Given the description of an element on the screen output the (x, y) to click on. 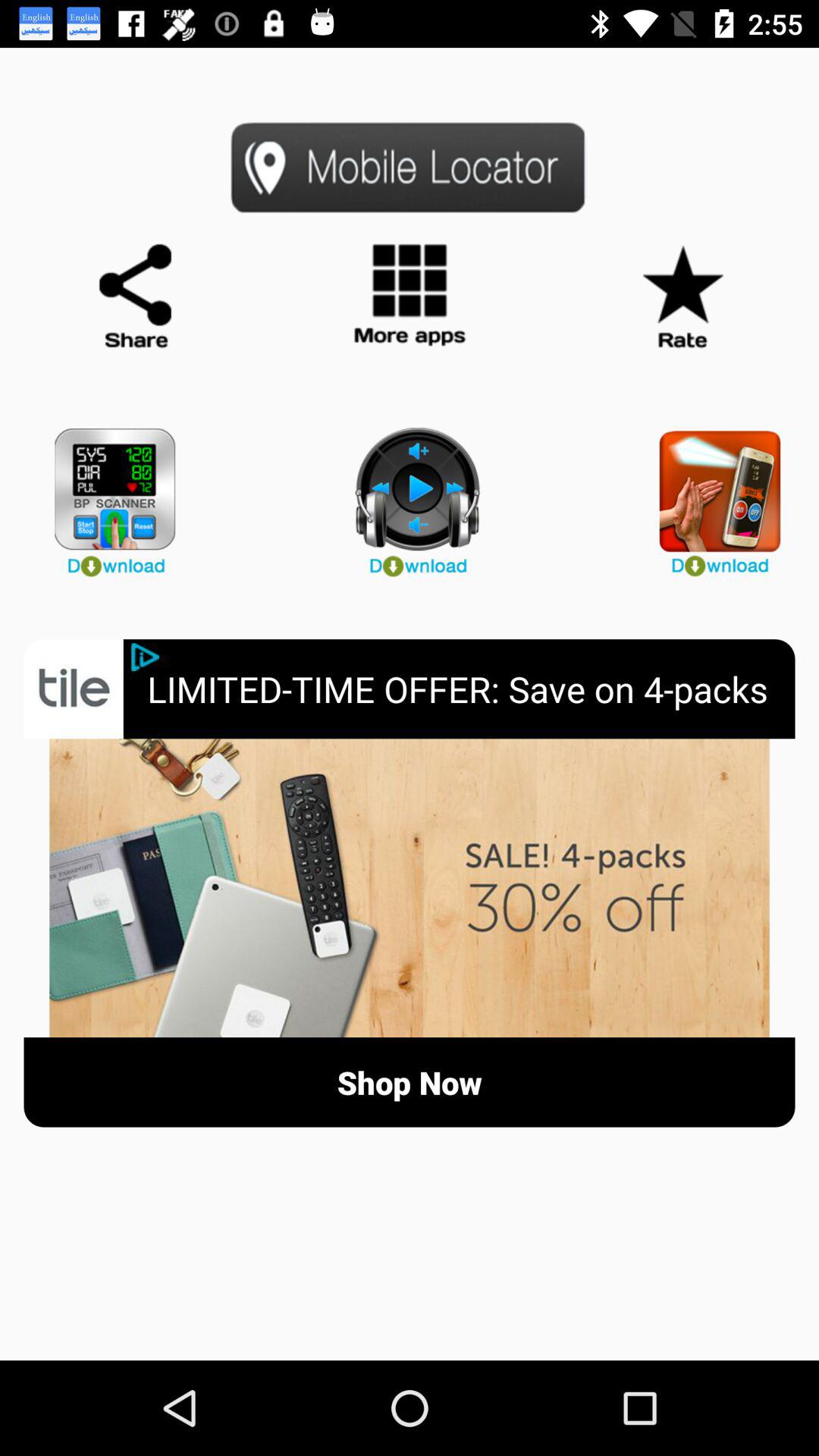
share app (136, 296)
